Given the description of an element on the screen output the (x, y) to click on. 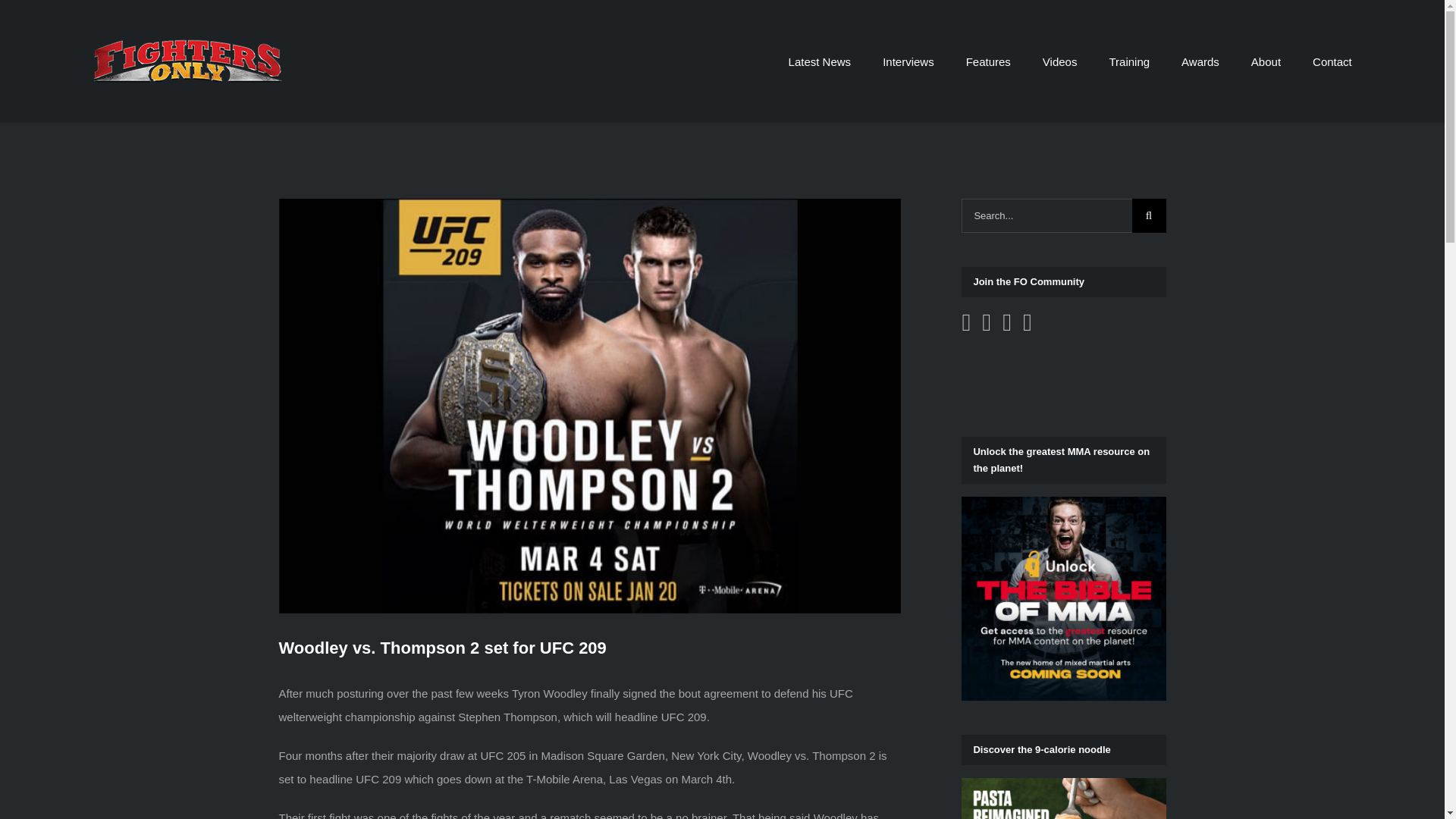
Interviews (908, 61)
Latest News (820, 61)
